Given the description of an element on the screen output the (x, y) to click on. 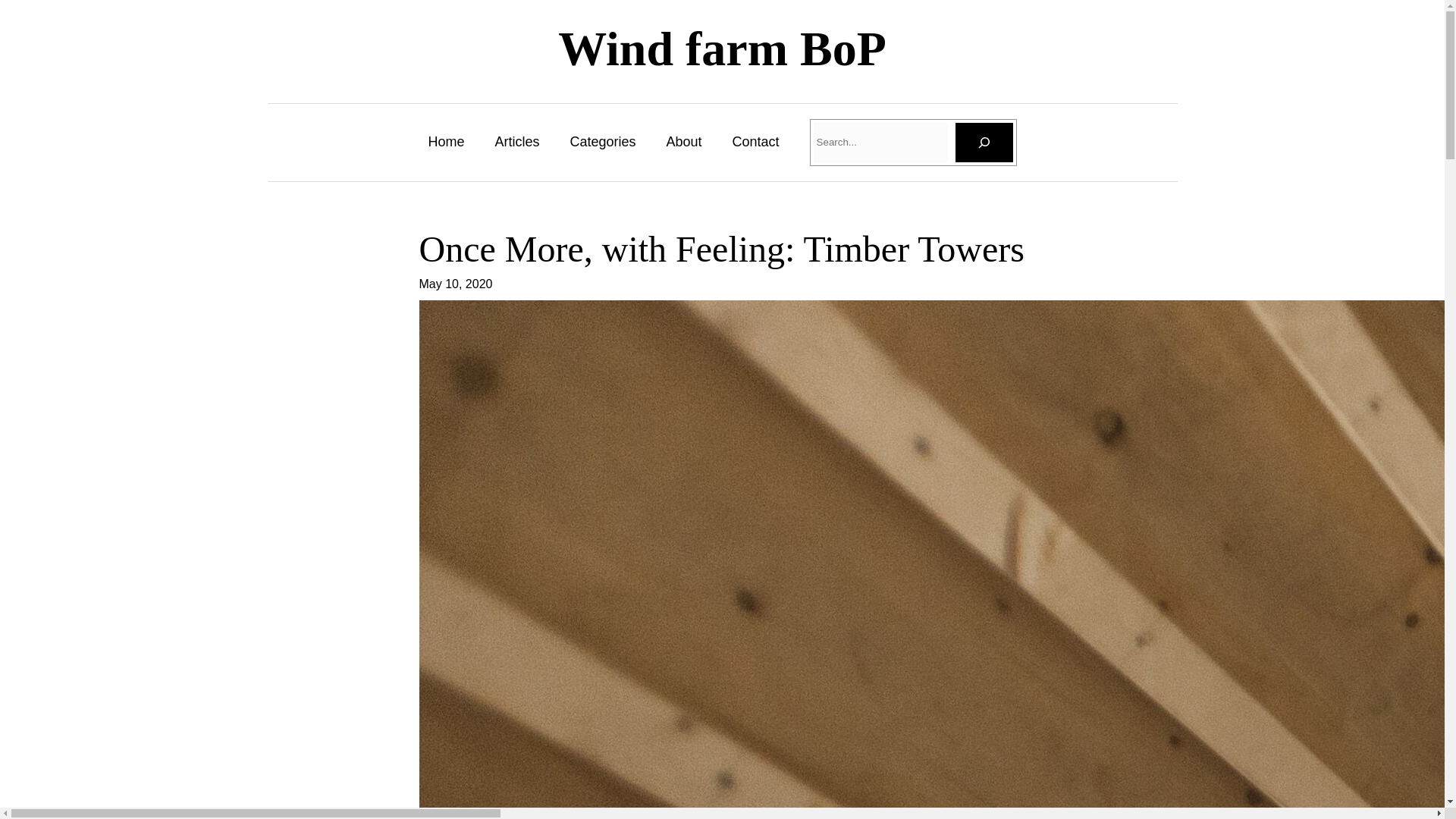
Home (446, 142)
About (683, 142)
Contact (755, 142)
Wind farm BoP (721, 49)
Articles (516, 142)
Categories (601, 142)
